Given the description of an element on the screen output the (x, y) to click on. 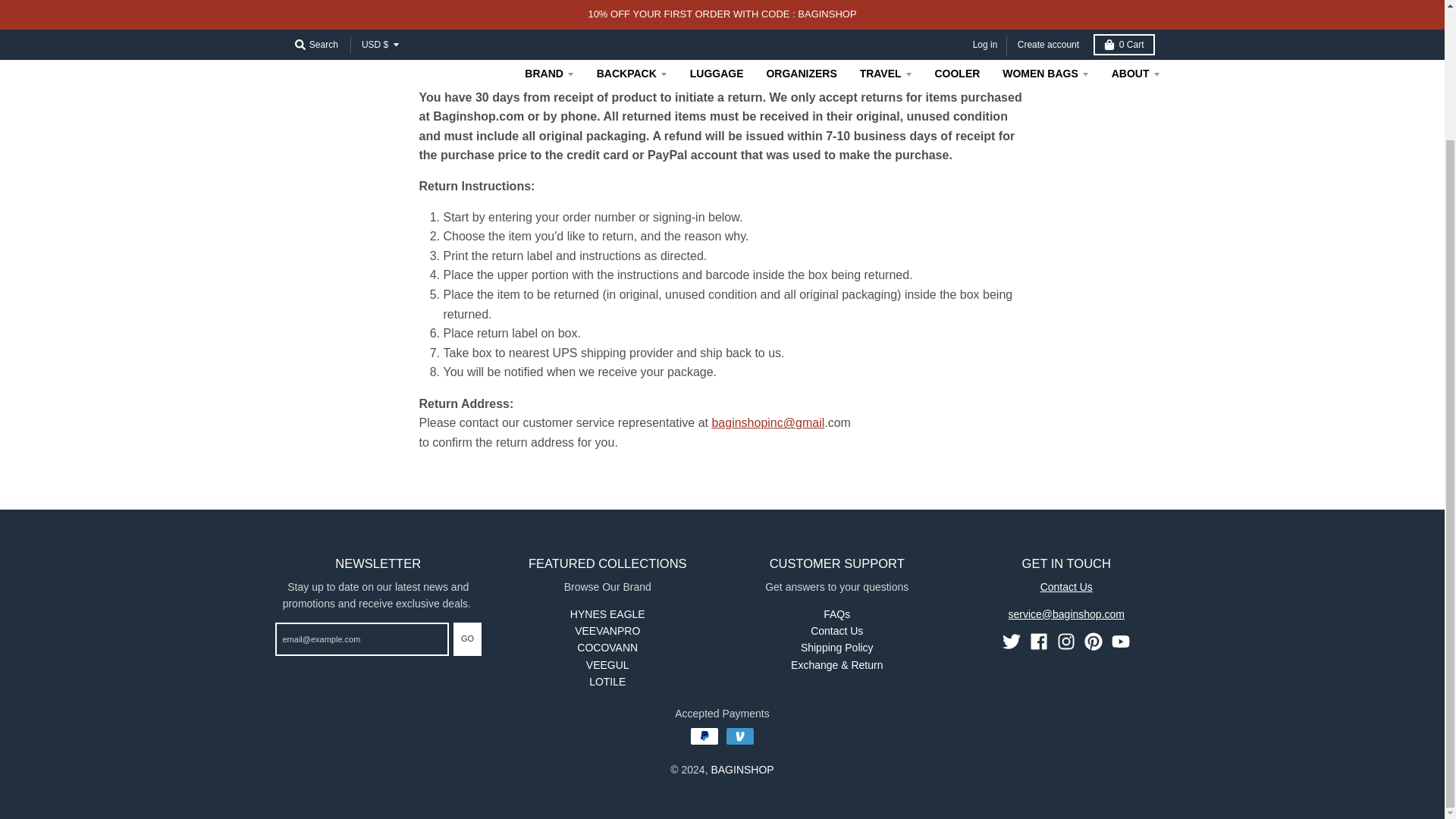
Facebook - BAGINSHOP (1038, 641)
Twitter - BAGINSHOP (1011, 641)
YouTube - BAGINSHOP (1120, 641)
Instagram - BAGINSHOP (1066, 641)
Pinterest - BAGINSHOP (1093, 641)
